Given the description of an element on the screen output the (x, y) to click on. 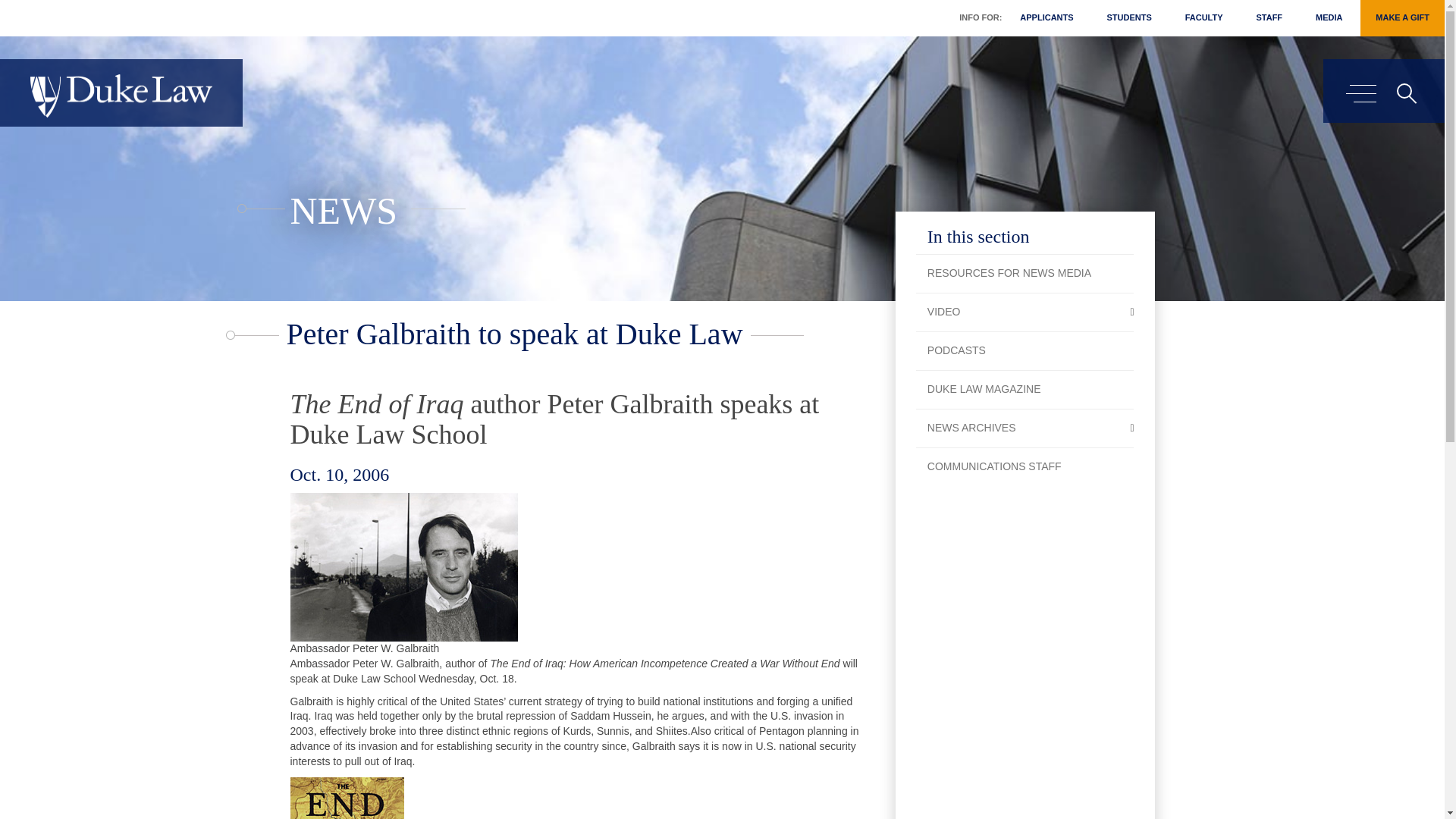
FACULTY (1204, 18)
MEDIA (1328, 18)
STAFF (1268, 18)
APPLICANTS (1045, 18)
Home (121, 95)
STUDENTS (1128, 18)
Main menu toggle (1360, 93)
